Given the description of an element on the screen output the (x, y) to click on. 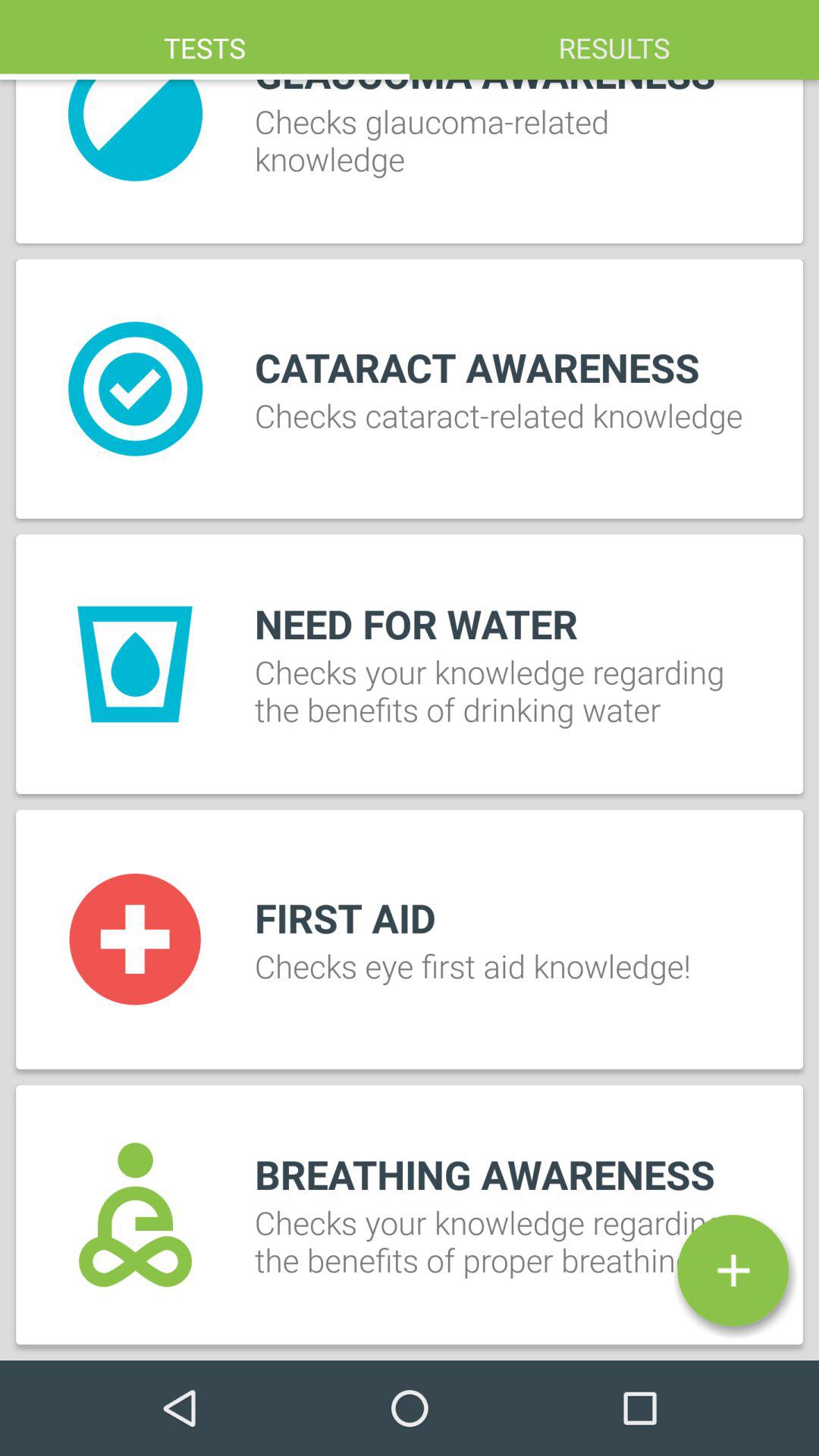
turn on the results icon (614, 39)
